Given the description of an element on the screen output the (x, y) to click on. 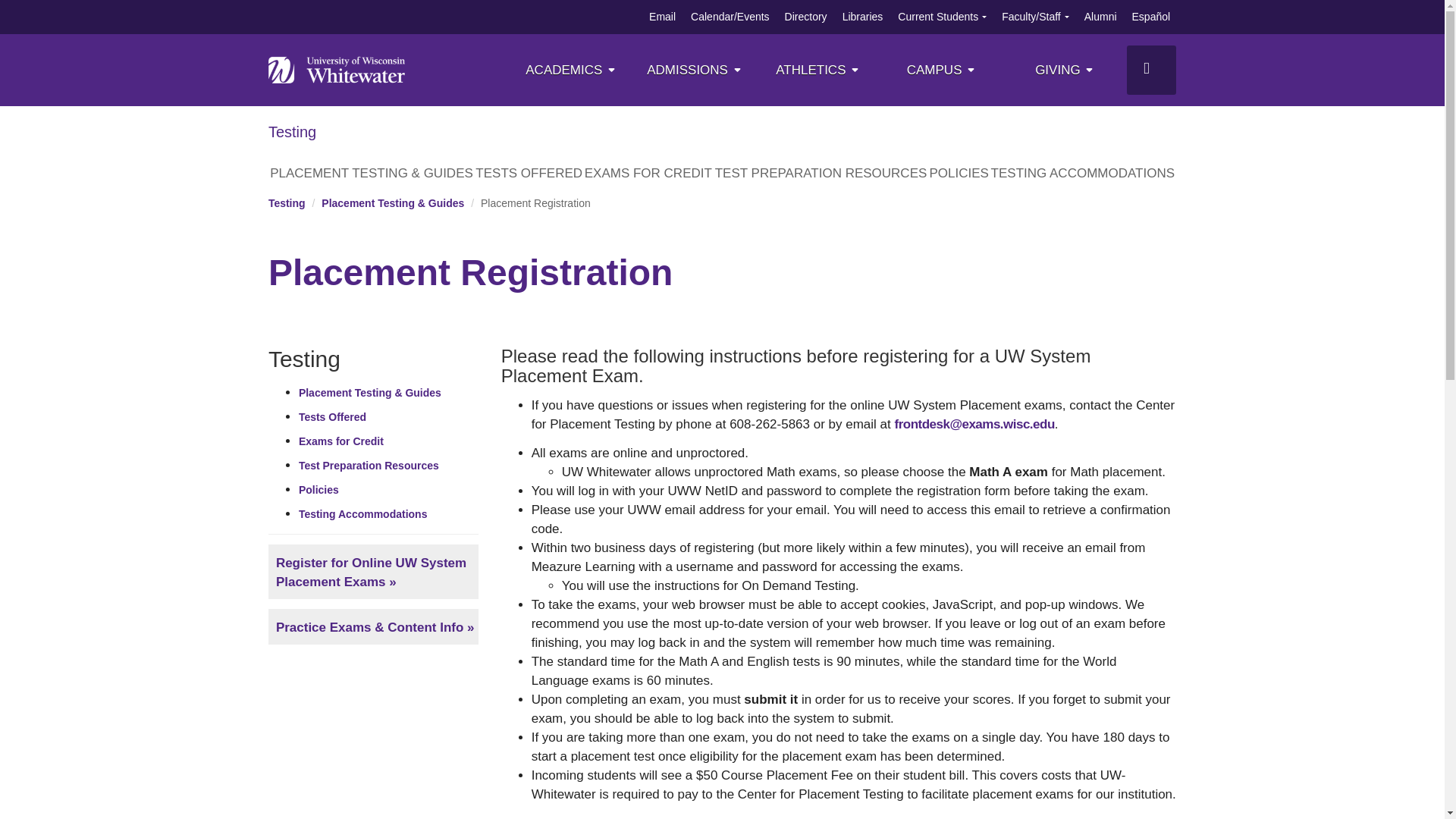
Alumni (1100, 16)
Email (662, 16)
Current Students (938, 16)
Libraries (863, 16)
ACADEMICS (571, 70)
Directory (805, 16)
